Given the description of an element on the screen output the (x, y) to click on. 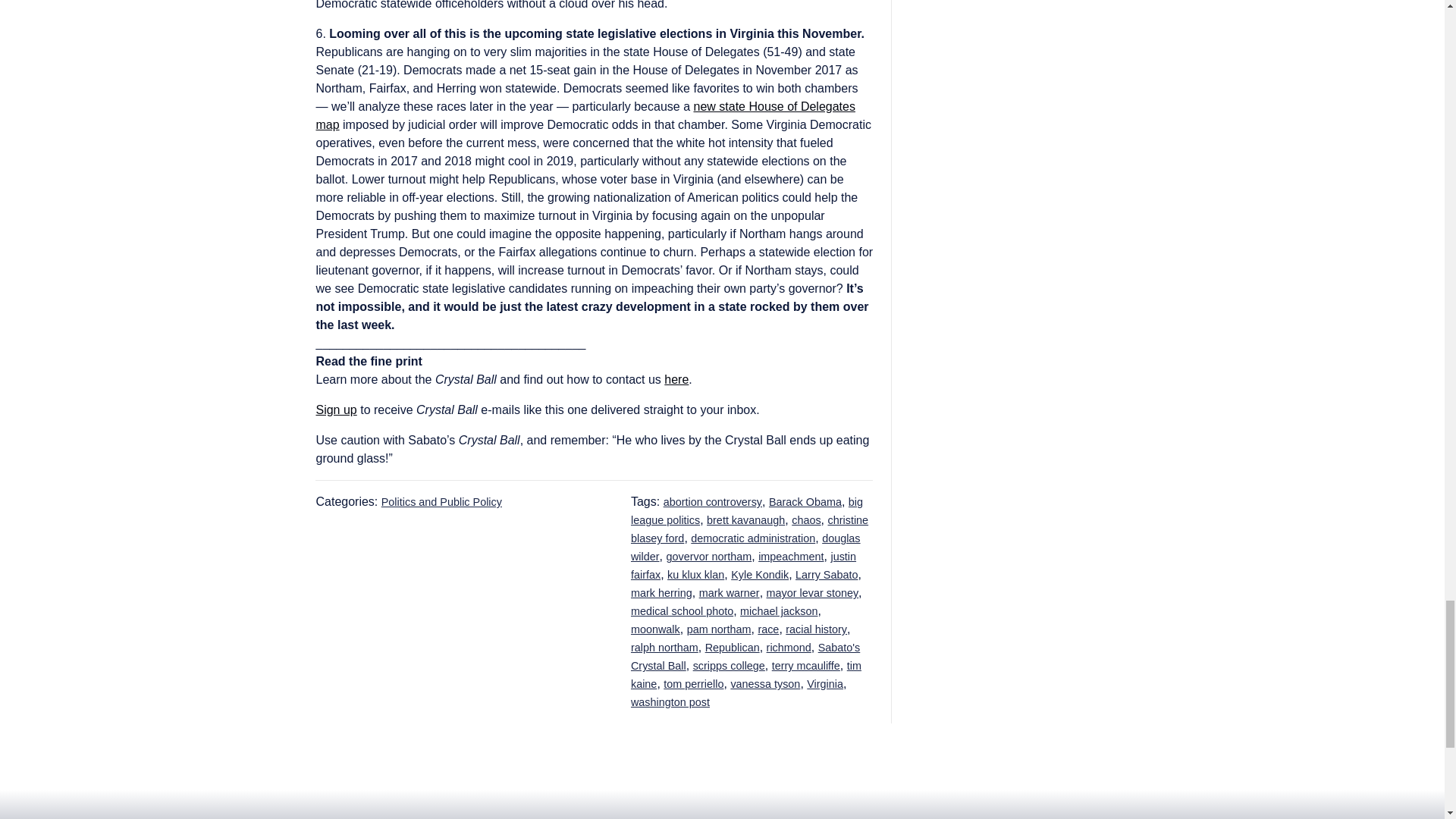
here (675, 379)
Sign up (335, 409)
abortion controversy (712, 501)
big league politics (746, 511)
democratic administration (752, 538)
brett kavanaugh (745, 520)
christine blasey ford (748, 529)
chaos (806, 520)
Politics and Public Policy (441, 501)
new state House of Delegates map (584, 115)
